Given the description of an element on the screen output the (x, y) to click on. 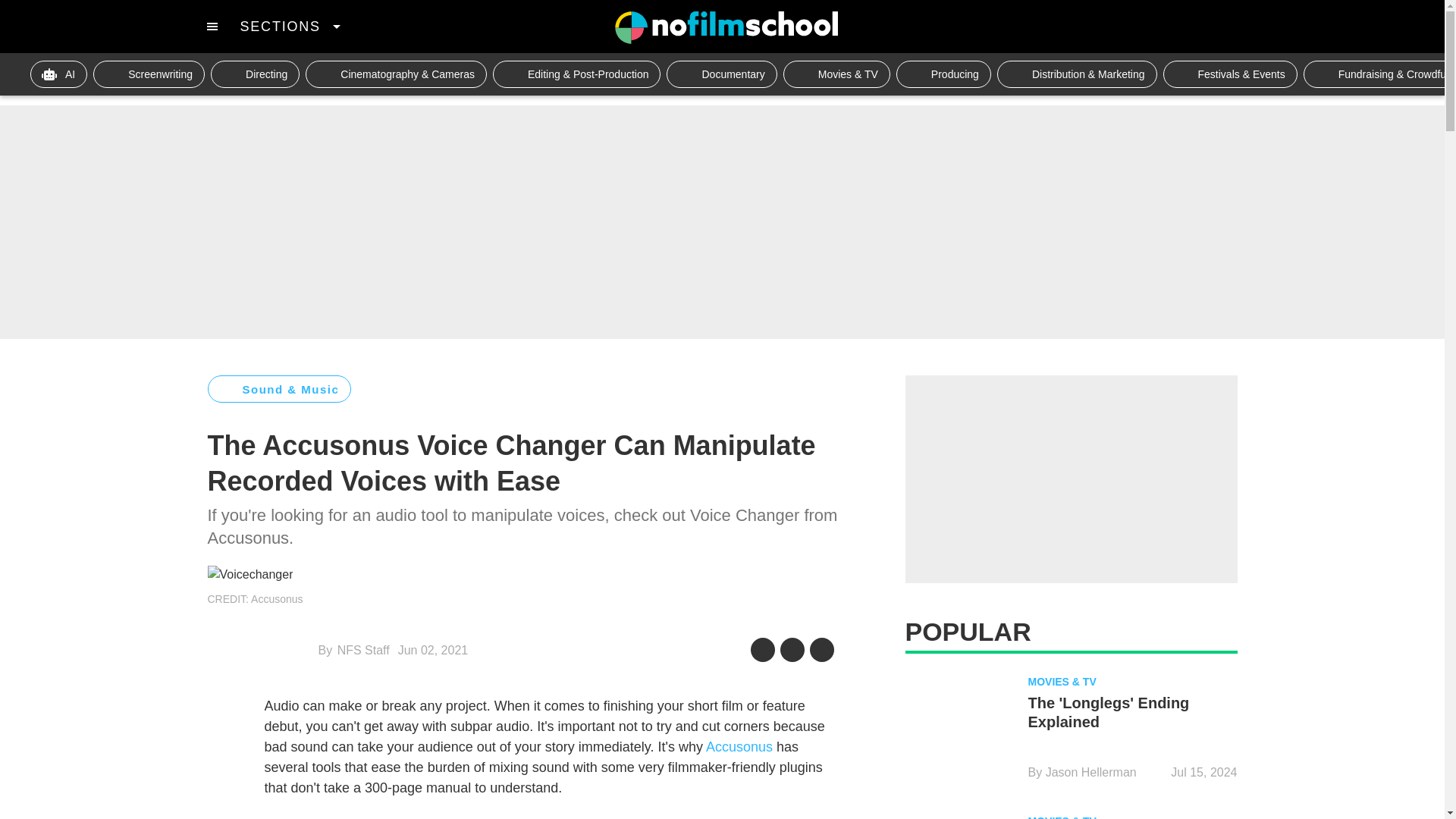
NO FILM SCHOOL (725, 27)
AI (58, 73)
Directing (255, 73)
NO FILM SCHOOL (725, 27)
Producing (943, 73)
SECTIONS (289, 26)
Documentary (721, 73)
NFS Staff (363, 649)
Screenwriting (149, 73)
